Given the description of an element on the screen output the (x, y) to click on. 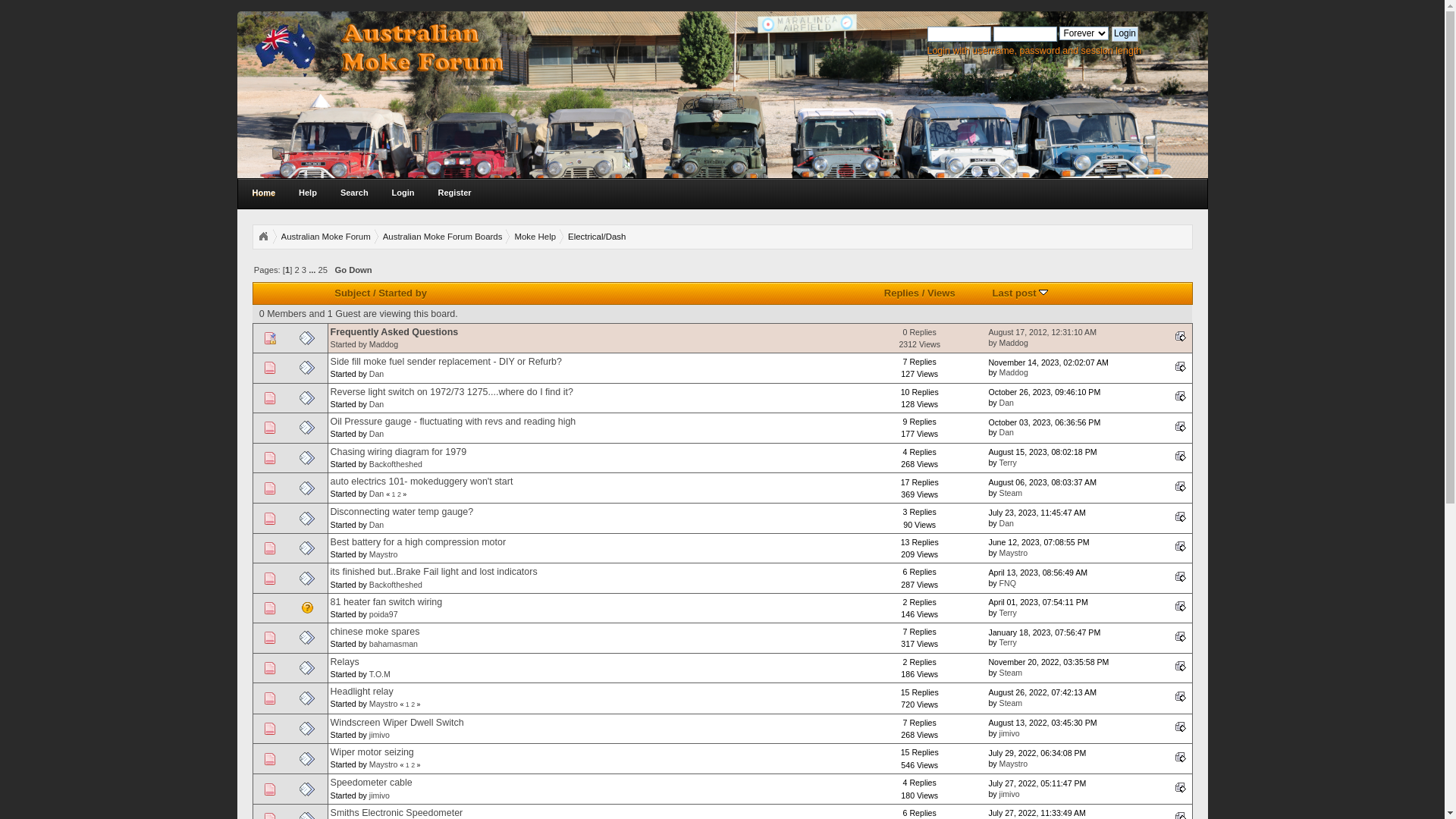
Last post Element type: hover (1180, 395)
Moke Help Element type: text (534, 236)
Home Element type: text (263, 192)
25 Element type: text (322, 269)
Steam Element type: text (1010, 492)
Last post Element type: hover (1180, 786)
Side fill moke fuel sender replacement - DIY or Refurb? Element type: text (445, 361)
bahamasman Element type: text (393, 643)
Windscreen Wiper Dwell Switch Element type: text (397, 722)
Maddog Element type: text (383, 343)
Reverse light switch on 1972/73 1275....where do I find it? Element type: text (451, 391)
Subject Element type: text (352, 292)
Dan Element type: text (1006, 522)
T.O.M Element type: text (379, 673)
2 Element type: text (412, 764)
Smiths Electronic Speedometer Element type: text (396, 812)
Best battery for a high compression motor Element type: text (417, 541)
1 Element type: text (407, 764)
Last post Element type: hover (1180, 455)
FNQ Element type: text (1007, 582)
Last post Element type: hover (1180, 756)
Terry Element type: text (1007, 641)
Steam Element type: text (1010, 672)
Register Element type: text (454, 192)
Help Element type: text (307, 192)
Last post Element type: hover (1180, 335)
Dan Element type: text (376, 524)
2 Element type: text (399, 494)
jimivo Element type: text (1009, 793)
Australian Moke Forum Element type: text (325, 236)
Backoftheshed Element type: text (395, 584)
Terry Element type: text (1007, 612)
its finished but..Brake Fail light and lost indicators Element type: text (433, 571)
Oil Pressure gauge - fluctuating with revs and reading high Element type: text (453, 421)
Dan Element type: text (376, 433)
Dan Element type: text (376, 403)
Steam Element type: text (1010, 702)
Last post Element type: hover (1180, 545)
1 Element type: text (393, 494)
Last post Element type: hover (1180, 635)
2 Element type: text (412, 704)
Last post Element type: hover (1180, 485)
1 Element type: text (407, 704)
chinese moke spares Element type: text (375, 631)
Last post Element type: hover (1180, 365)
Backoftheshed Element type: text (395, 463)
... Element type: text (312, 269)
Wiper motor seizing Element type: text (372, 751)
Last post Element type: hover (1180, 516)
Terry Element type: text (1007, 462)
Last post Element type: hover (1180, 726)
Maddog Element type: text (1013, 371)
Dan Element type: text (376, 373)
jimivo Element type: text (379, 734)
Australian Moke Forum Boards Element type: text (442, 236)
Dan Element type: text (1006, 402)
Login Element type: text (402, 192)
jimivo Element type: text (1009, 732)
Dan Element type: text (376, 493)
jimivo Element type: text (379, 795)
Speedometer cable Element type: text (371, 782)
Last post Element type: hover (1180, 665)
Maystro Element type: text (383, 553)
Last post Element type: text (1020, 292)
3 Element type: text (303, 269)
Dan Element type: text (1006, 431)
auto electrics 101- mokeduggery won't start Element type: text (421, 481)
Maystro Element type: text (383, 763)
Replies Element type: text (901, 292)
Maystro Element type: text (1013, 552)
Go Down Element type: text (352, 269)
poida97 Element type: text (383, 613)
Views Element type: text (941, 292)
Maddog Element type: text (1013, 342)
Last post Element type: hover (1180, 605)
Started by Element type: text (402, 292)
Search Element type: text (354, 192)
Login Element type: text (1124, 33)
Maystro Element type: text (383, 703)
Last post Element type: hover (1180, 695)
Last post Element type: hover (1180, 425)
Electrical/Dash Element type: text (596, 236)
Maystro Element type: text (1013, 763)
81 heater fan switch wiring Element type: text (386, 601)
Last post Element type: hover (1180, 575)
Chasing wiring diagram for 1979 Element type: text (398, 451)
Relays Element type: text (344, 661)
Frequently Asked Questions Element type: text (394, 331)
Headlight relay Element type: text (361, 691)
Disconnecting water temp gauge? Element type: text (401, 511)
2 Element type: text (296, 269)
